Given the description of an element on the screen output the (x, y) to click on. 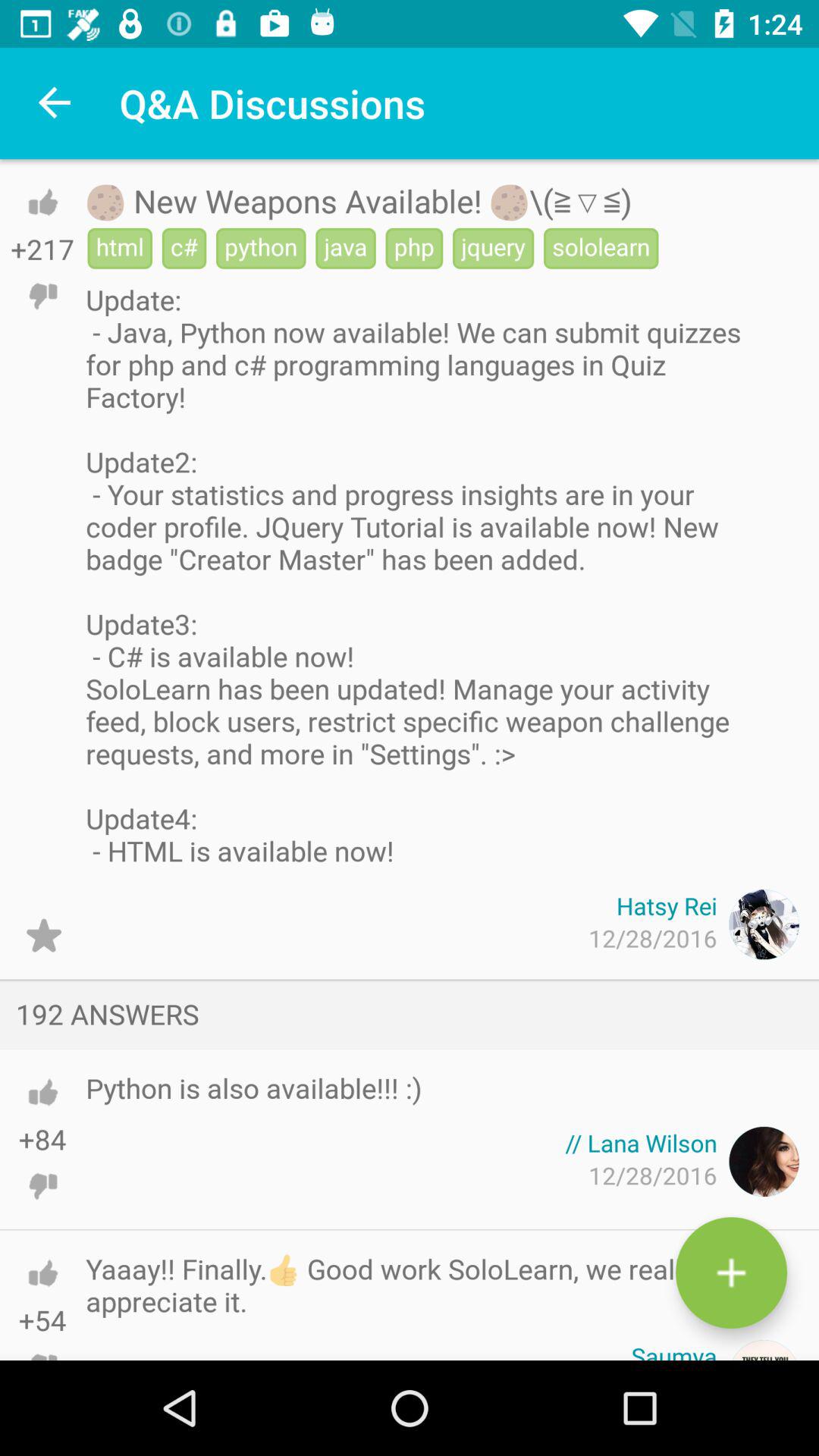
this unlike button (42, 1186)
